Given the description of an element on the screen output the (x, y) to click on. 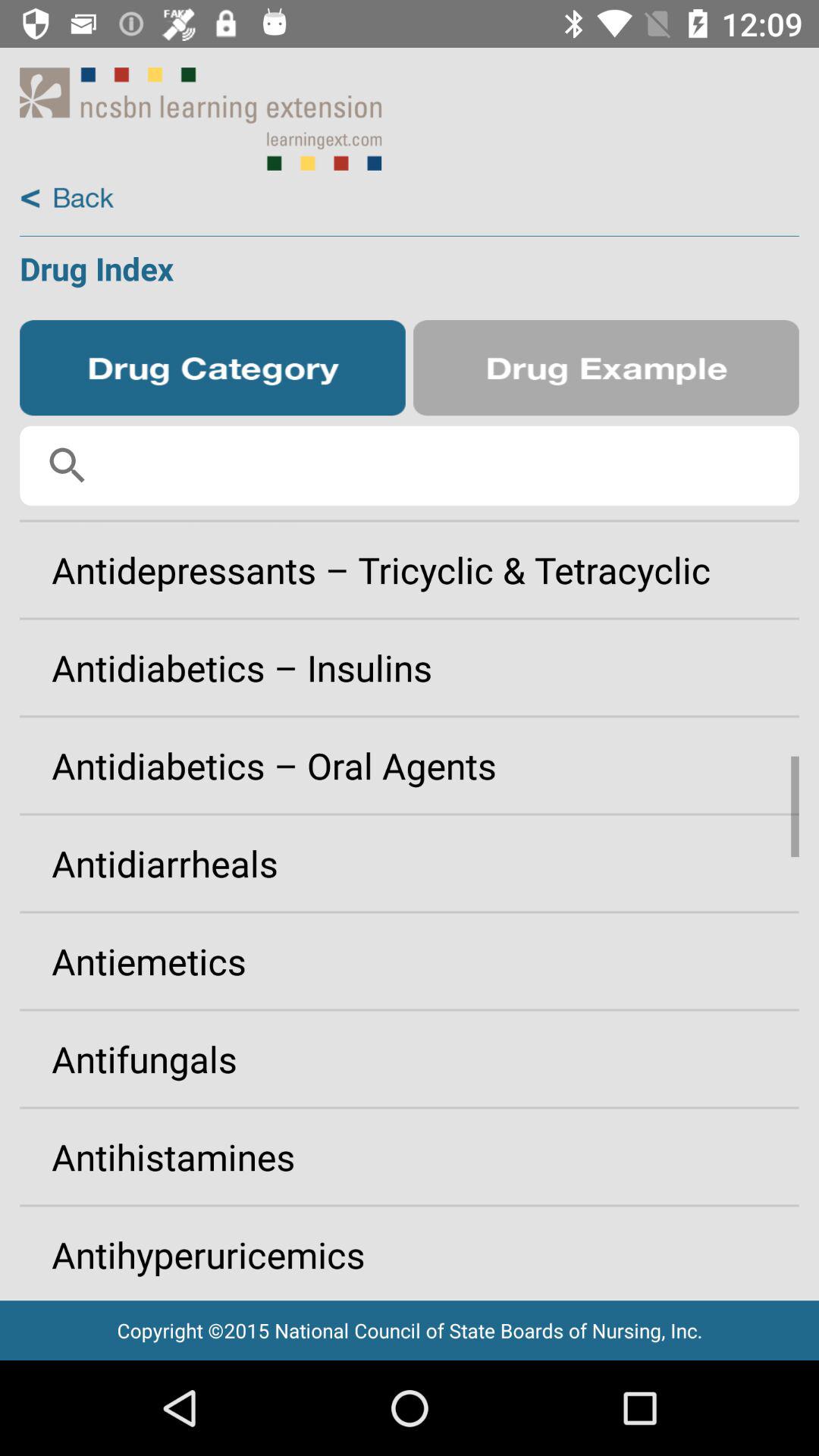
go to back (66, 198)
